Given the description of an element on the screen output the (x, y) to click on. 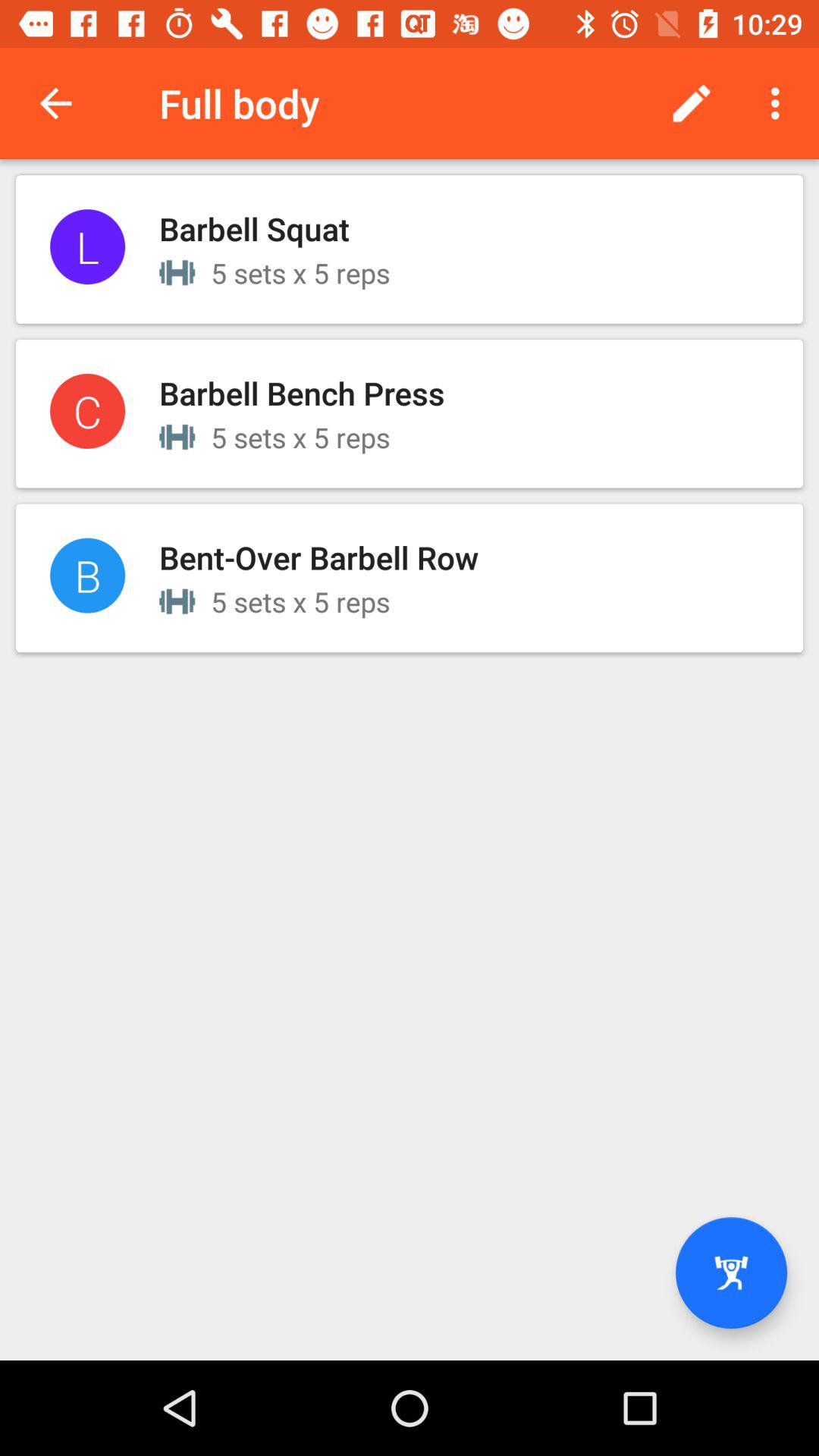
open the icon to the left of full body (55, 103)
